Given the description of an element on the screen output the (x, y) to click on. 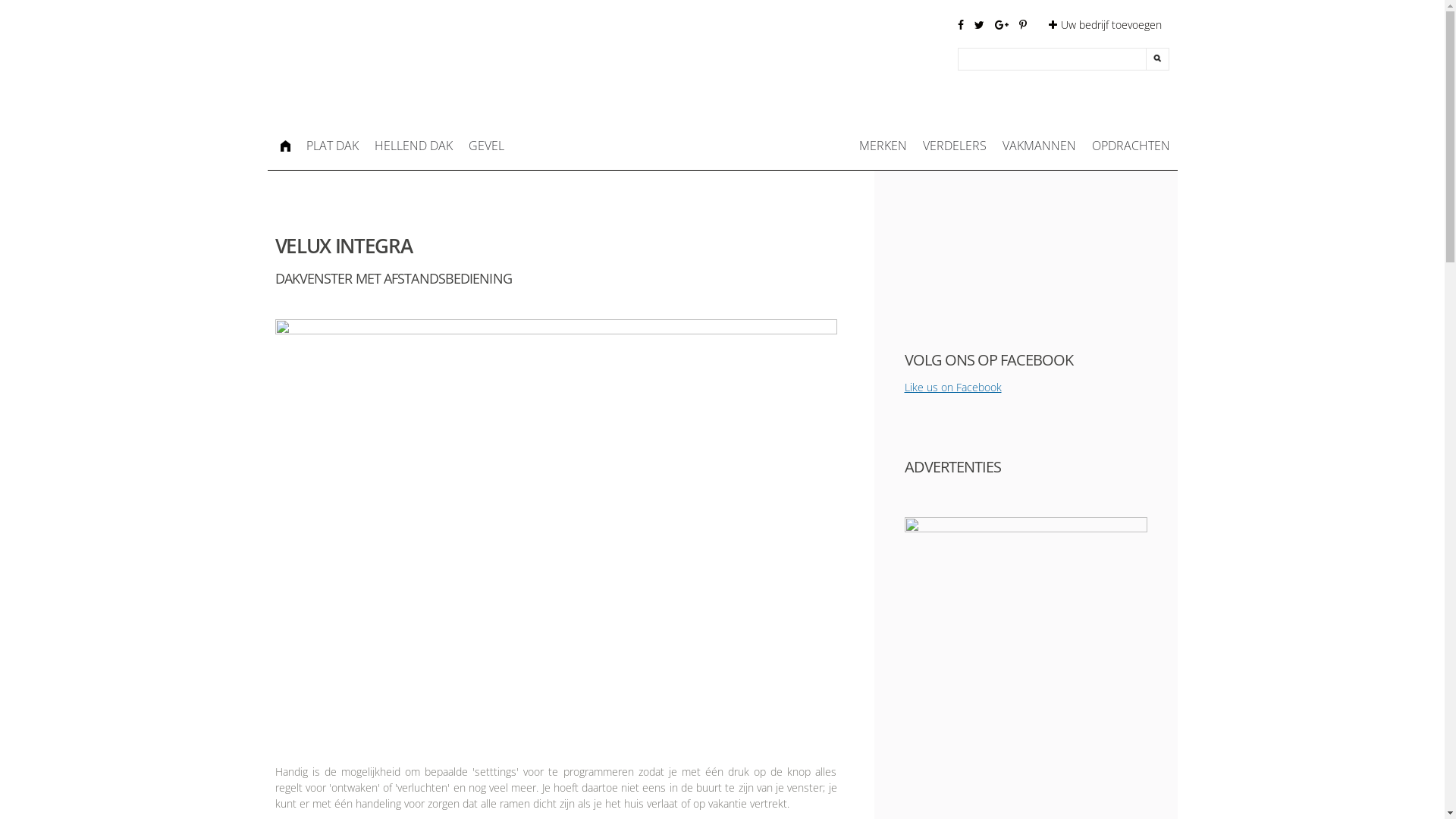
HOME Element type: text (285, 145)
PLAT DAK Element type: text (332, 145)
VERDELERS Element type: text (953, 145)
Skip to main content Element type: text (692, 1)
Like us on Facebook Element type: text (952, 386)
Apply Element type: text (1157, 58)
OPDRACHTEN Element type: text (1131, 145)
HELLEND DAK Element type: text (413, 145)
Uw bedrijf toevoegen Element type: text (1099, 24)
VAKMANNEN Element type: text (1039, 145)
MERKEN Element type: text (882, 145)
GEVEL Element type: text (486, 145)
